Given the description of an element on the screen output the (x, y) to click on. 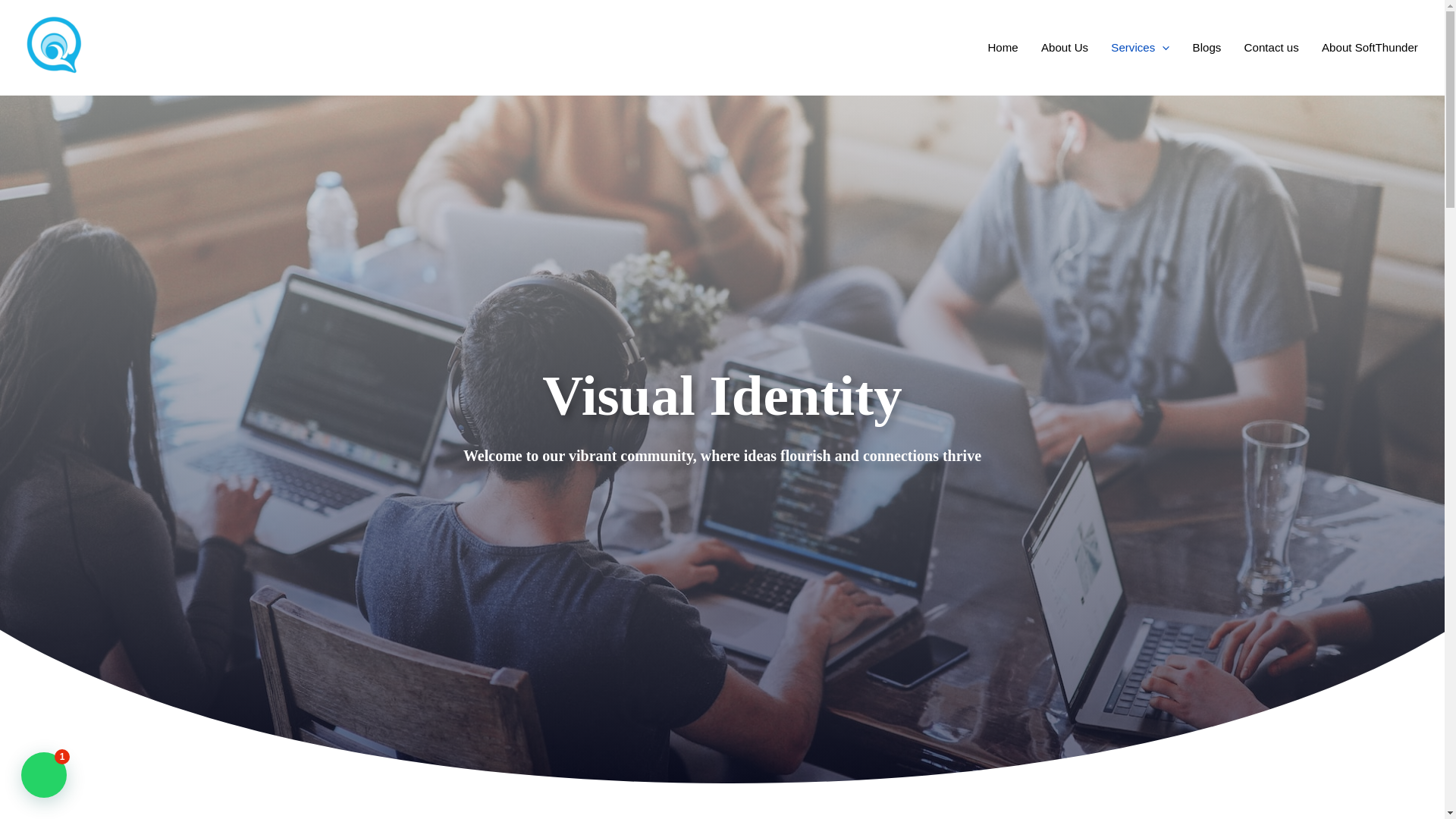
Contact us (1269, 47)
Services (1139, 47)
About SoftThunder (1369, 47)
